Given the description of an element on the screen output the (x, y) to click on. 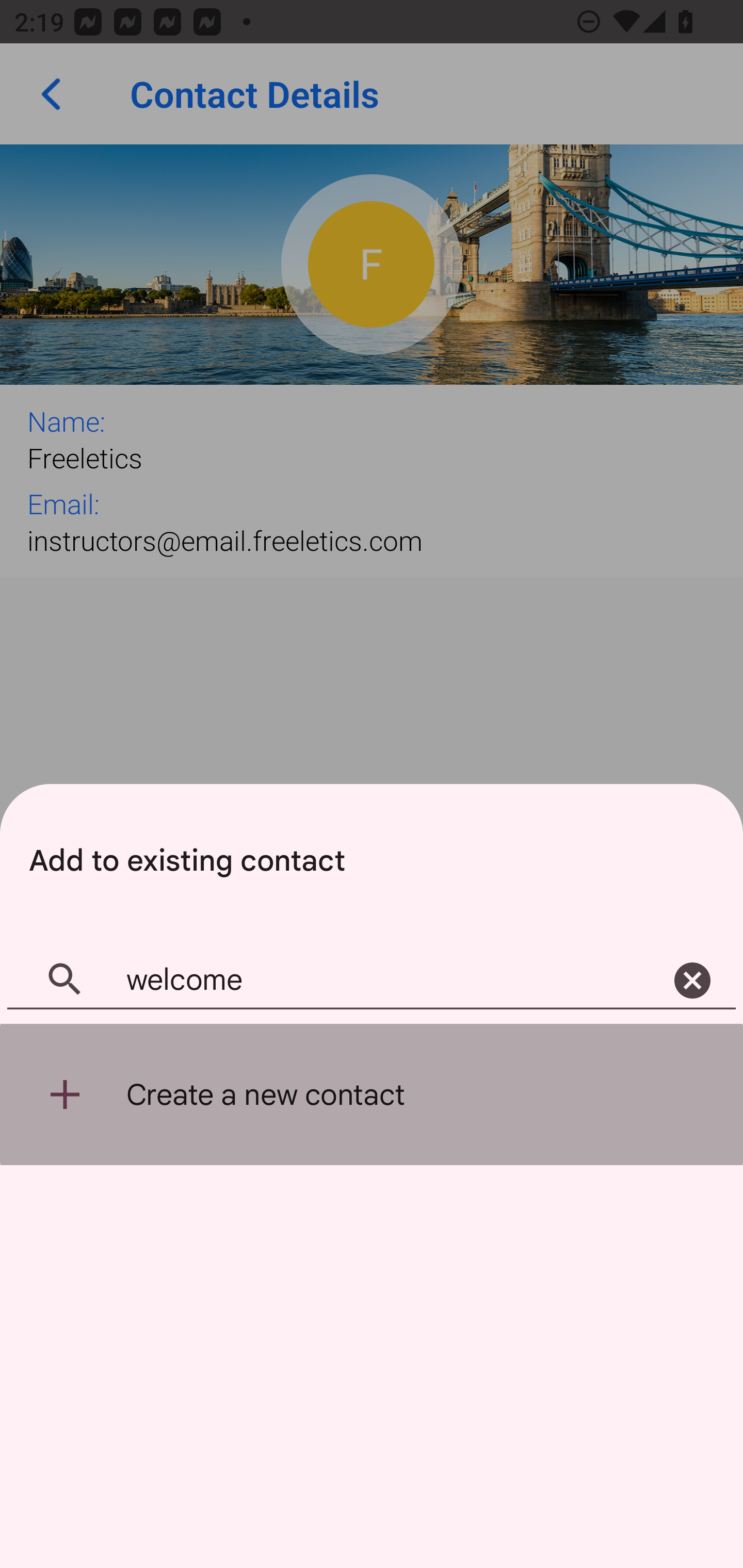
welcome (371, 980)
Clear search (692, 980)
Create a new contact (371, 1094)
